Given the description of an element on the screen output the (x, y) to click on. 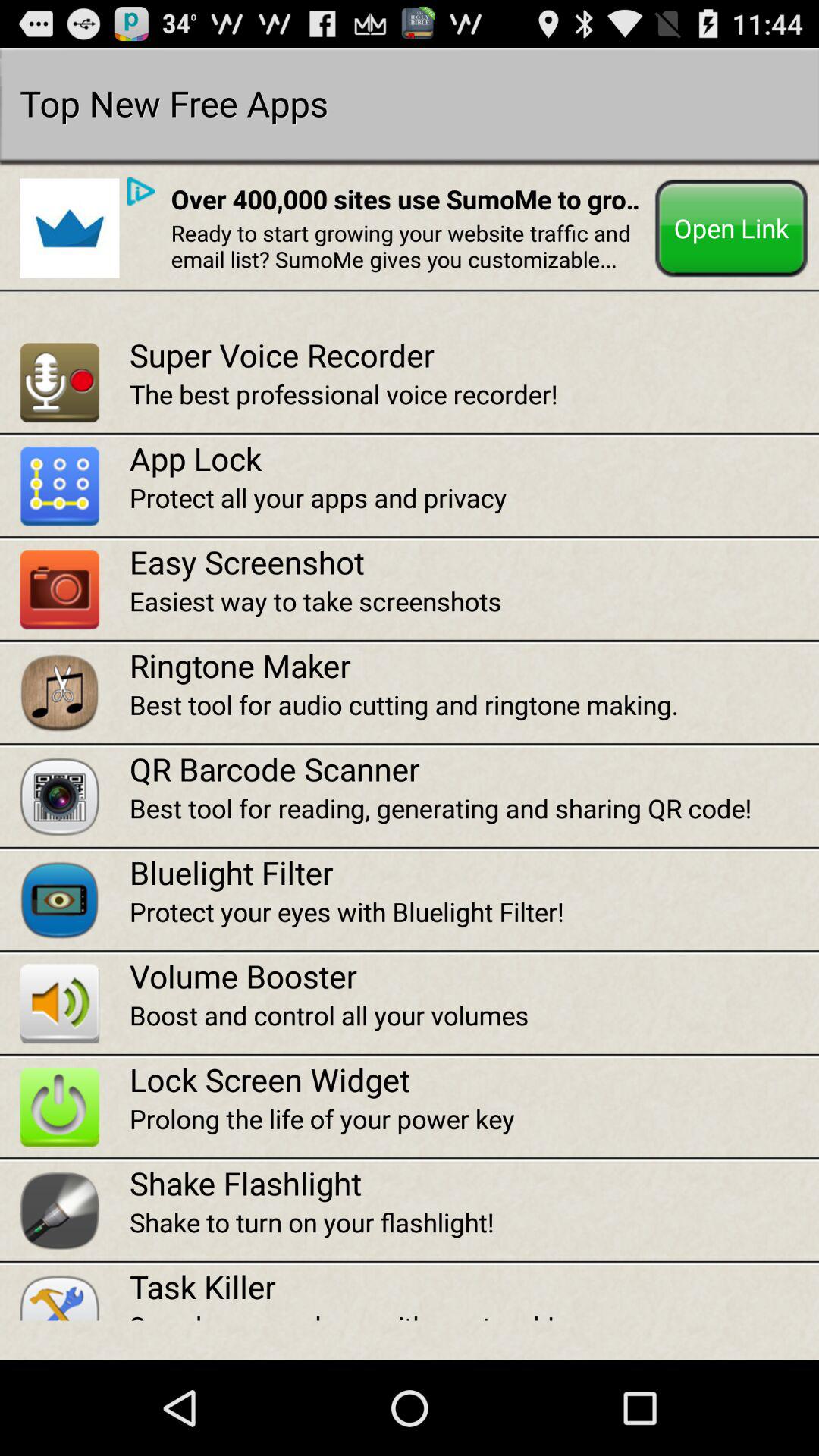
tap the app below shake to turn icon (474, 1286)
